Given the description of an element on the screen output the (x, y) to click on. 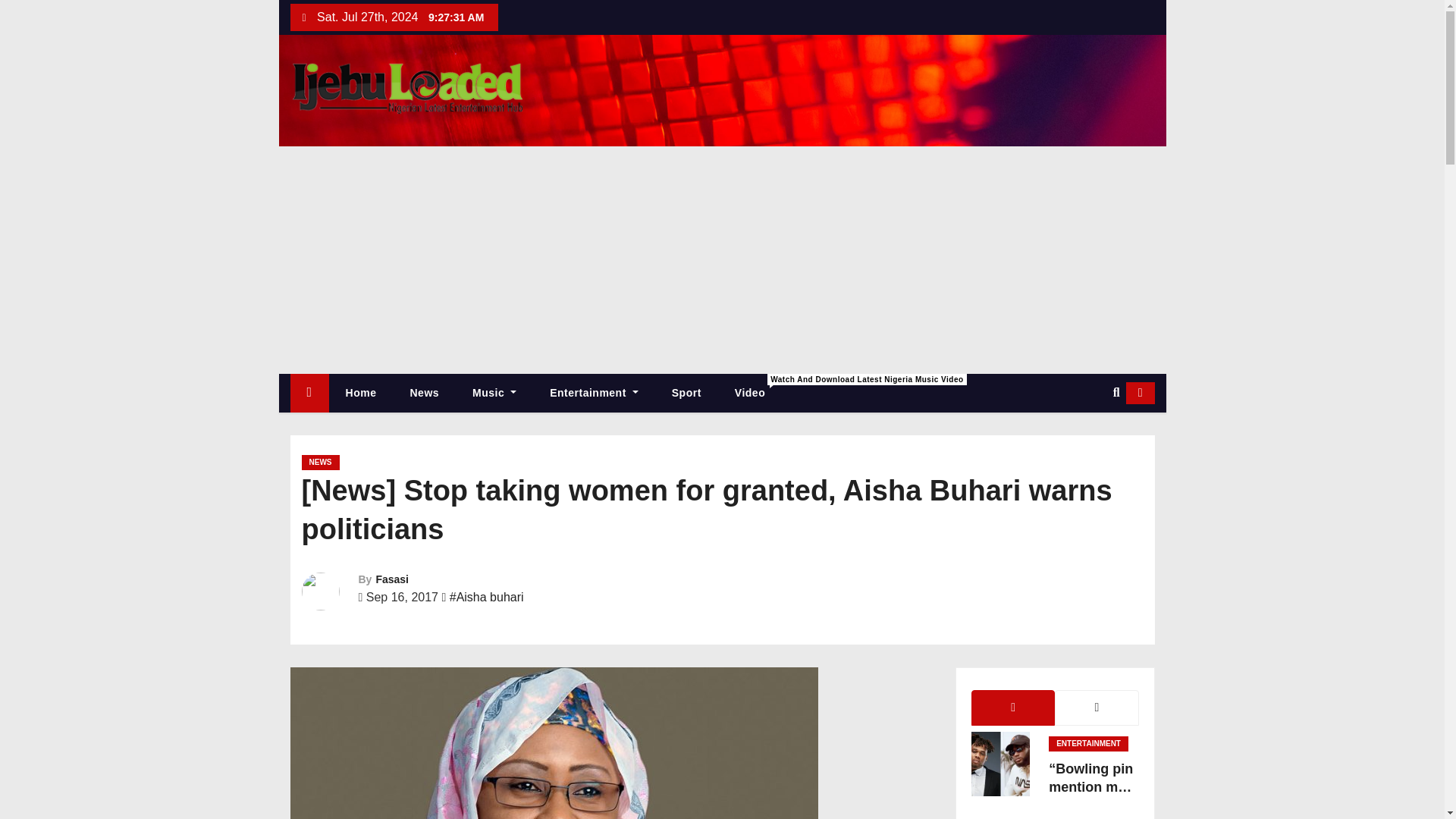
NEWS (320, 462)
Sport (686, 392)
Entertainment (593, 392)
Music (493, 392)
News (424, 392)
Music (493, 392)
Home (361, 392)
Entertainment (593, 392)
Video (749, 392)
News (424, 392)
Fasasi (392, 579)
Home (749, 392)
Sport (361, 392)
Home (686, 392)
